Given the description of an element on the screen output the (x, y) to click on. 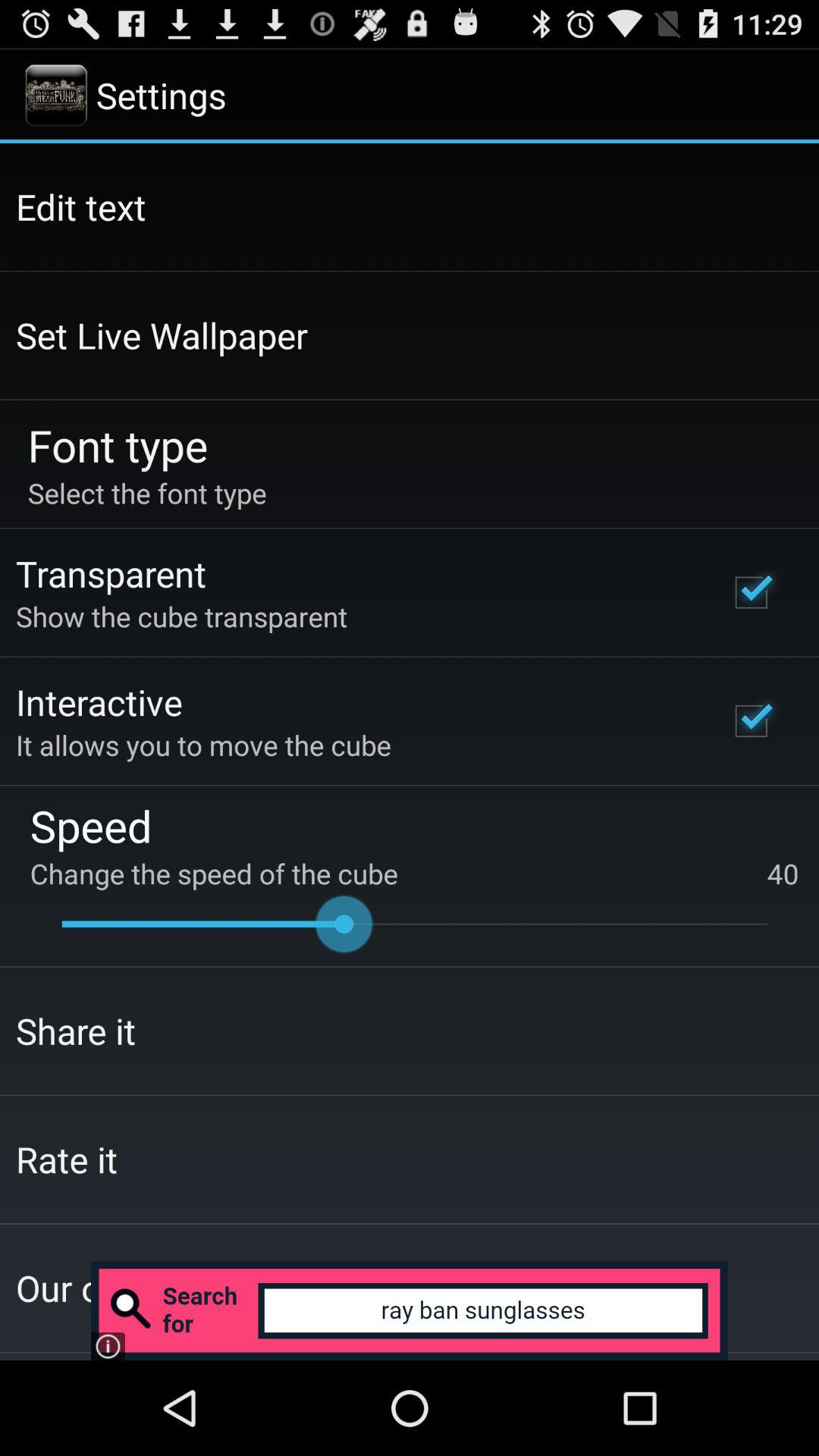
press the icon above the set live wallpaper item (80, 206)
